Given the description of an element on the screen output the (x, y) to click on. 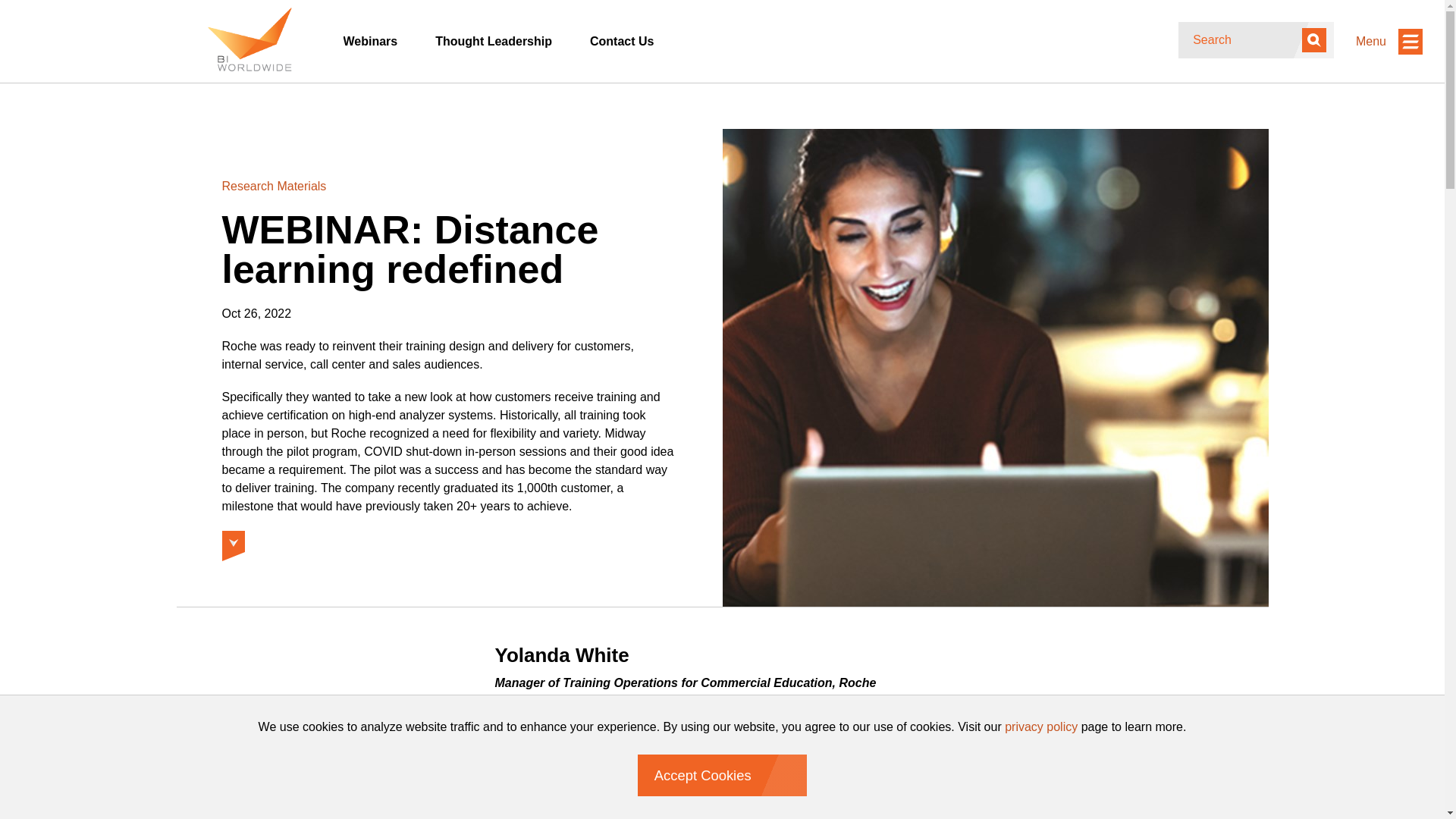
Menu (1389, 41)
Search (1313, 39)
BI WORLDWIDE privacy policy (1040, 726)
privacy policy (1040, 726)
Webinars (369, 41)
Thought Leadership (493, 41)
BI WORLDWIDE (248, 38)
Search (1313, 39)
Search (1313, 39)
Scroll Down (232, 541)
Contact Us (621, 41)
Research Materials (273, 185)
Scroll Down (232, 541)
Accept Cookies (721, 775)
